Given the description of an element on the screen output the (x, y) to click on. 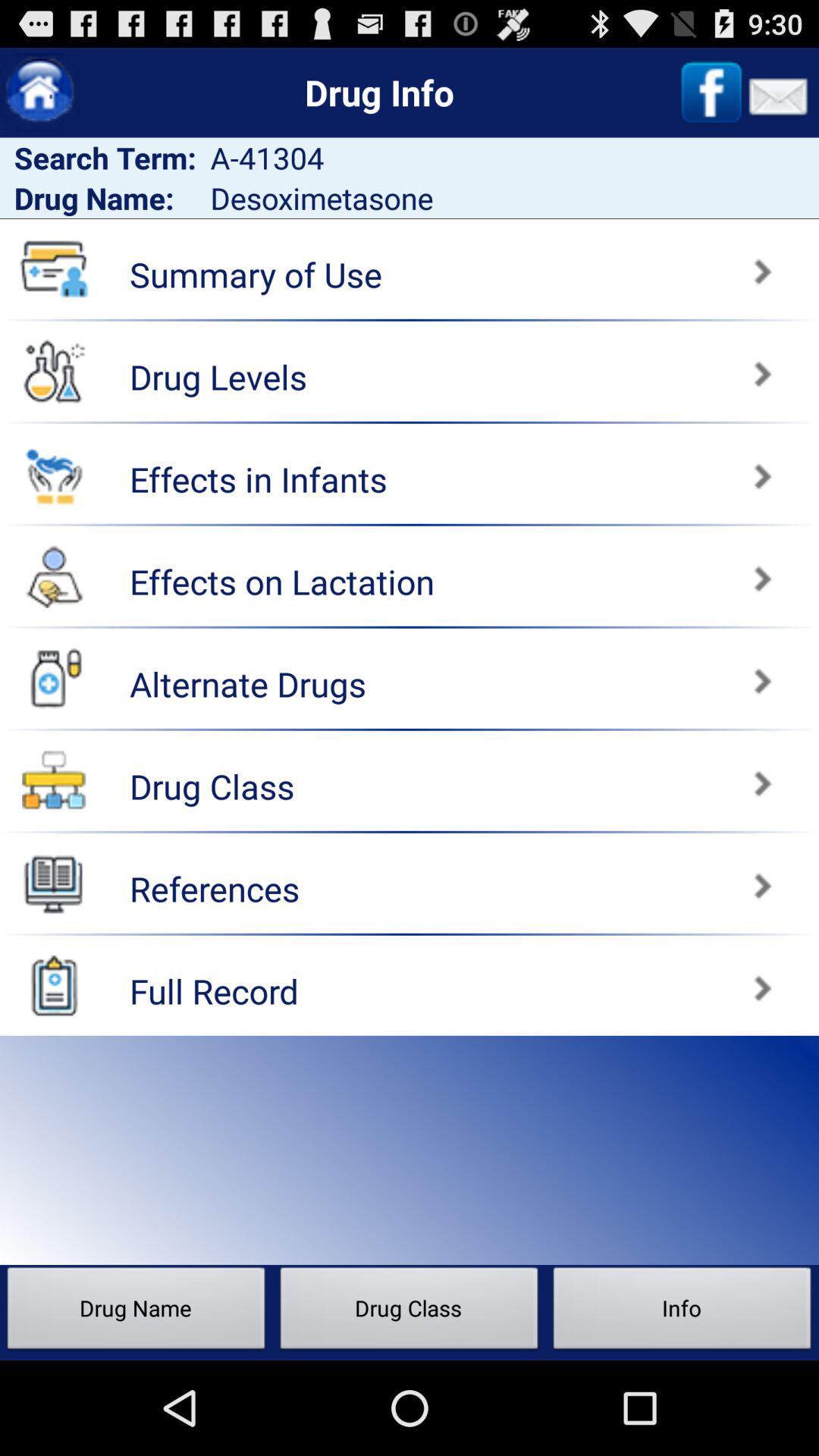
open alternate drugs (617, 673)
